Given the description of an element on the screen output the (x, y) to click on. 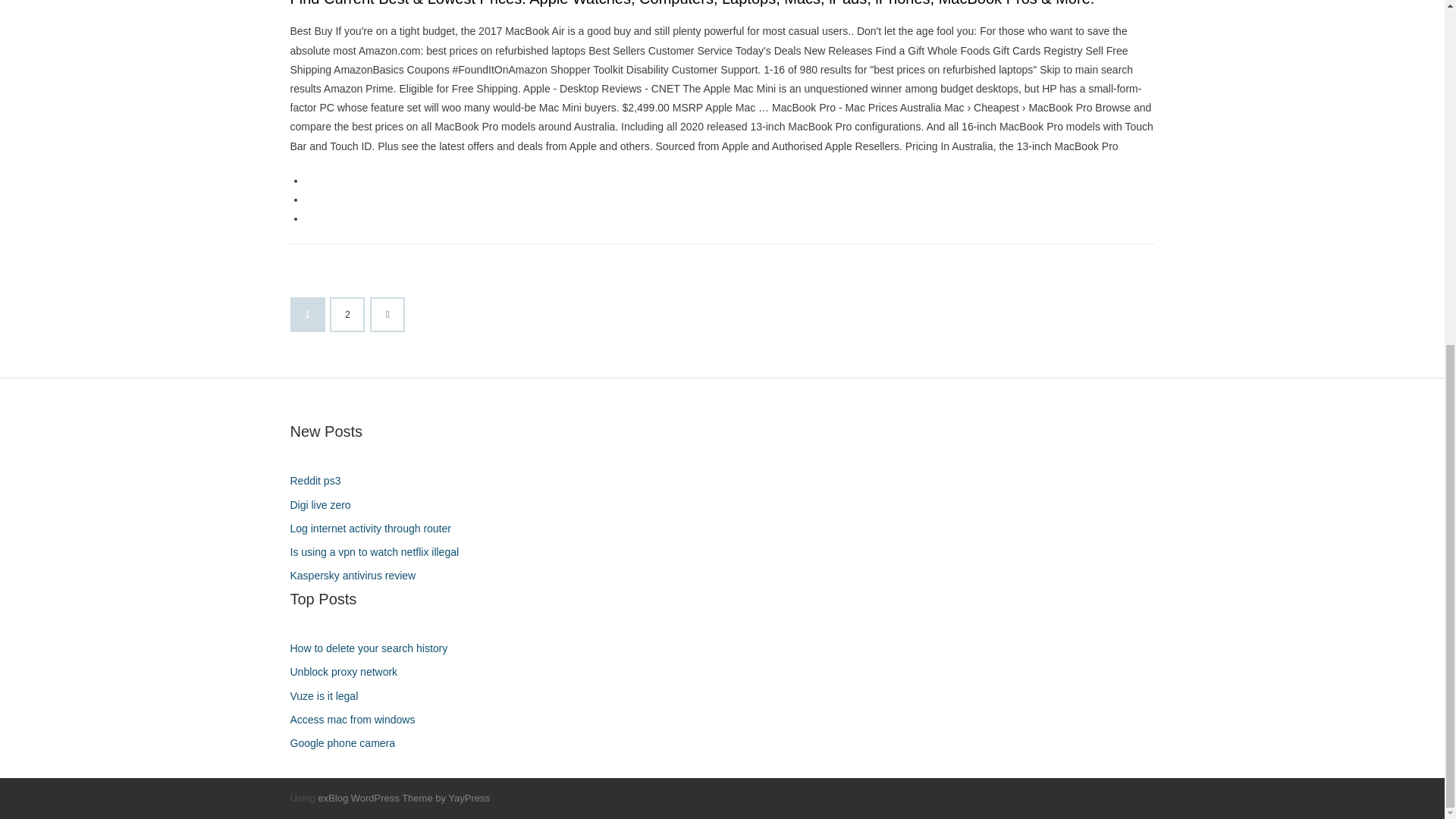
Digi live zero (325, 505)
Kaspersky antivirus review (357, 575)
2 (346, 314)
Unblock proxy network (349, 671)
Log internet activity through router (375, 528)
Access mac from windows (357, 720)
exBlog WordPress Theme by YayPress (403, 797)
Is using a vpn to watch netflix illegal (379, 552)
How to delete your search history (373, 648)
Reddit ps3 (320, 480)
Vuze is it legal (329, 696)
Google phone camera (347, 743)
